Given the description of an element on the screen output the (x, y) to click on. 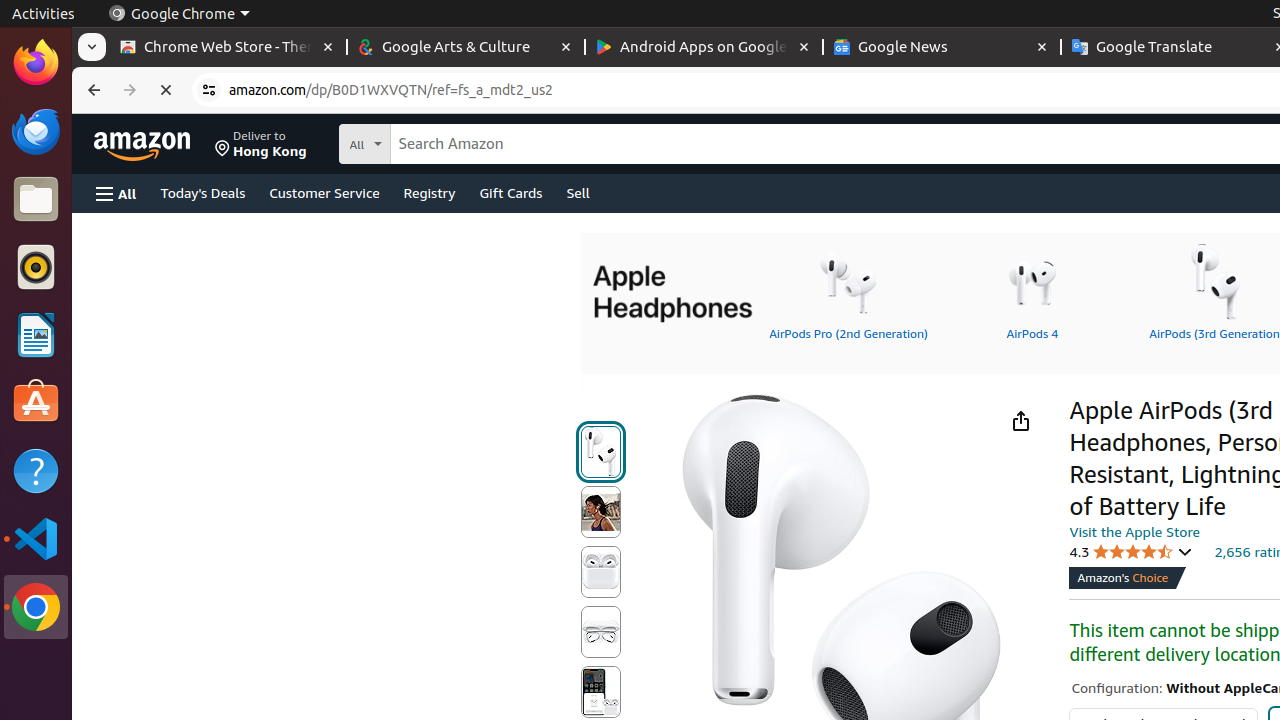
Visual Studio Code Element type: push-button (36, 538)
Rhythmbox Element type: push-button (36, 267)
All Departments Element type: menu-item (439, 141)
Android Apps on Google Play - Memory usage - 60.6 MB Element type: page-tab (704, 47)
Files Element type: push-button (36, 199)
